Given the description of an element on the screen output the (x, y) to click on. 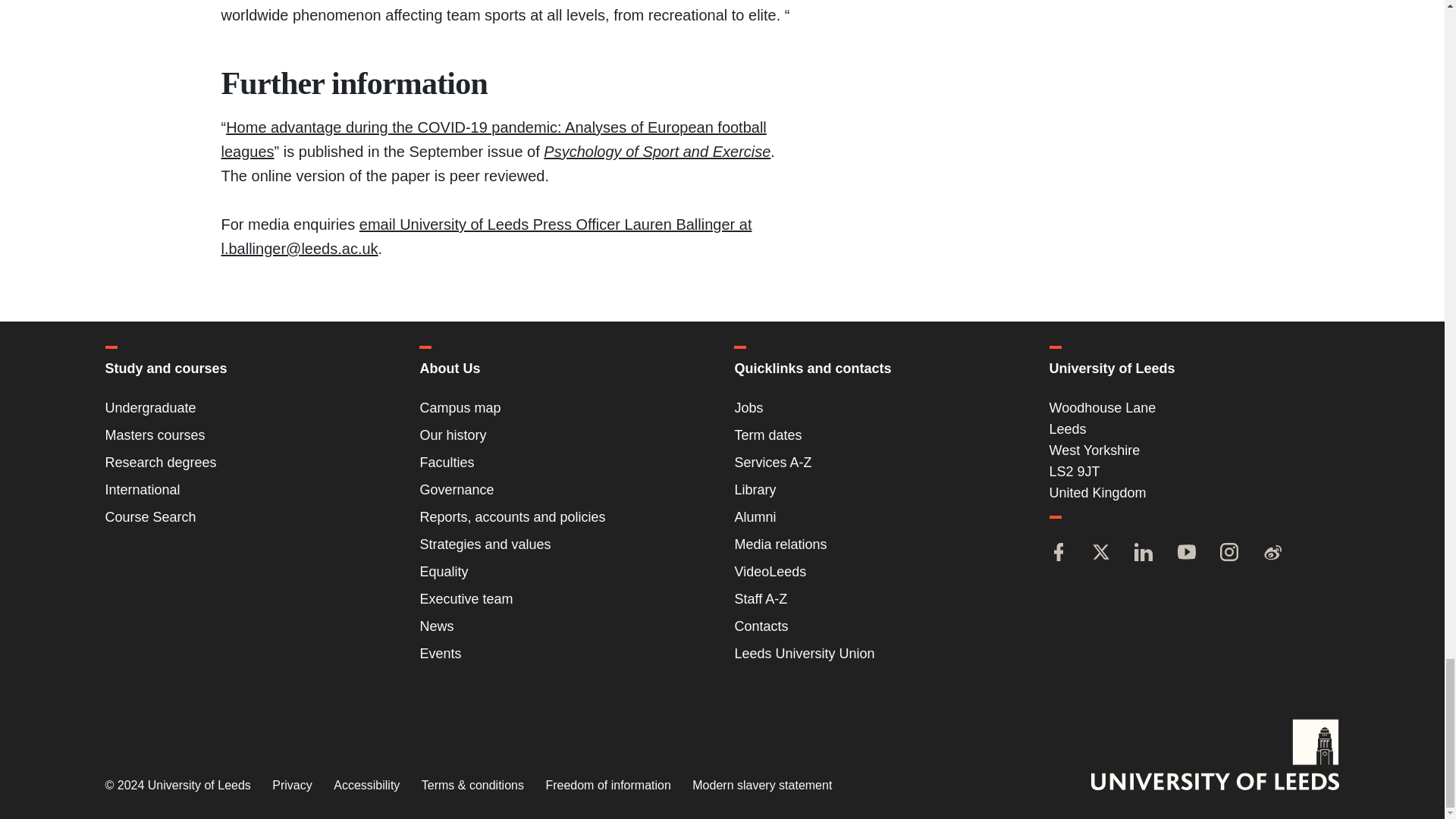
Go to Freedom of information page (606, 784)
Go to Privacy page (291, 784)
Go to Accessibility page (365, 784)
Go to Modern slavery statement page (762, 784)
